Given the description of an element on the screen output the (x, y) to click on. 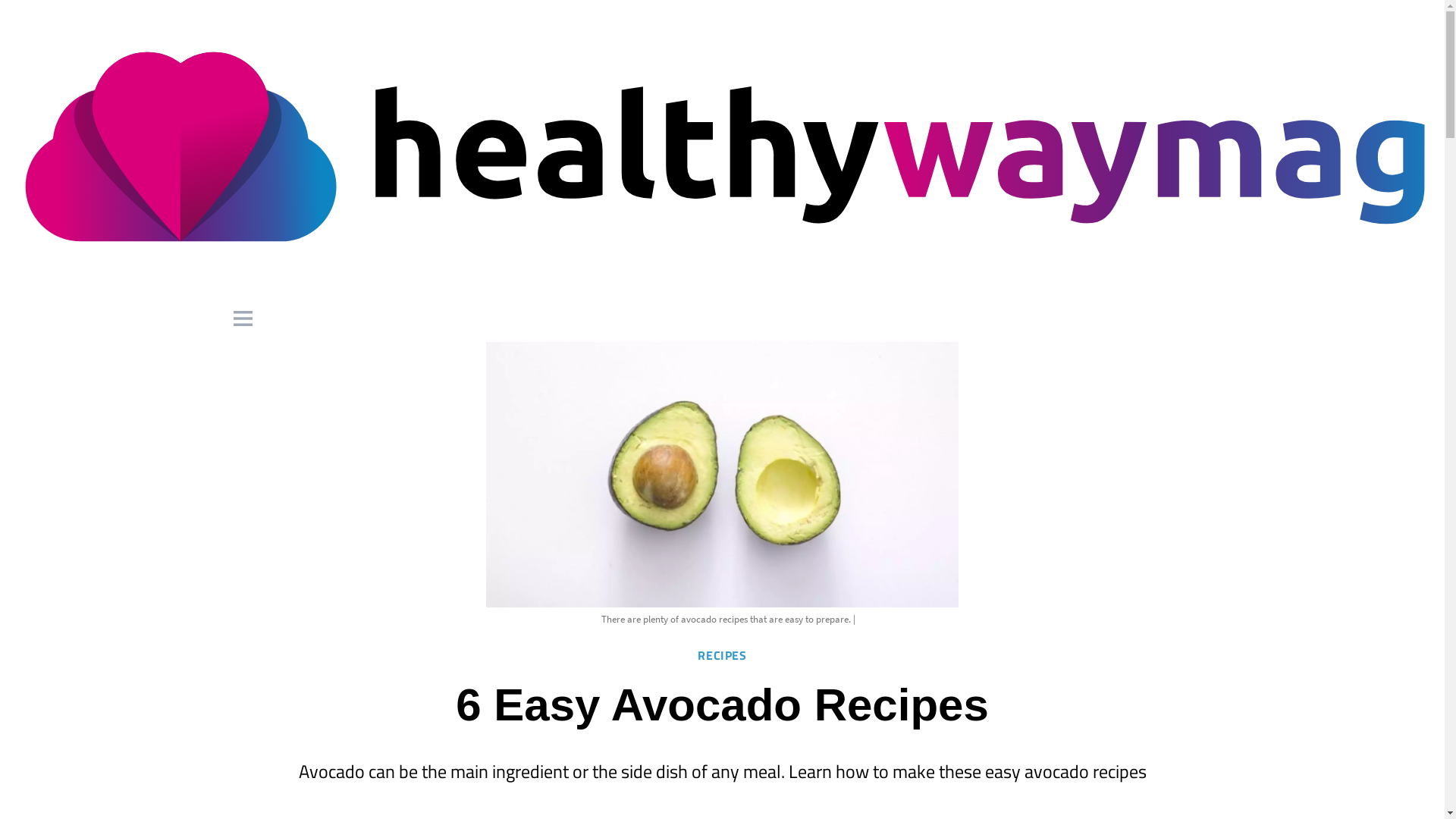
RECIPES (721, 655)
RECIPES (721, 655)
